Given the description of an element on the screen output the (x, y) to click on. 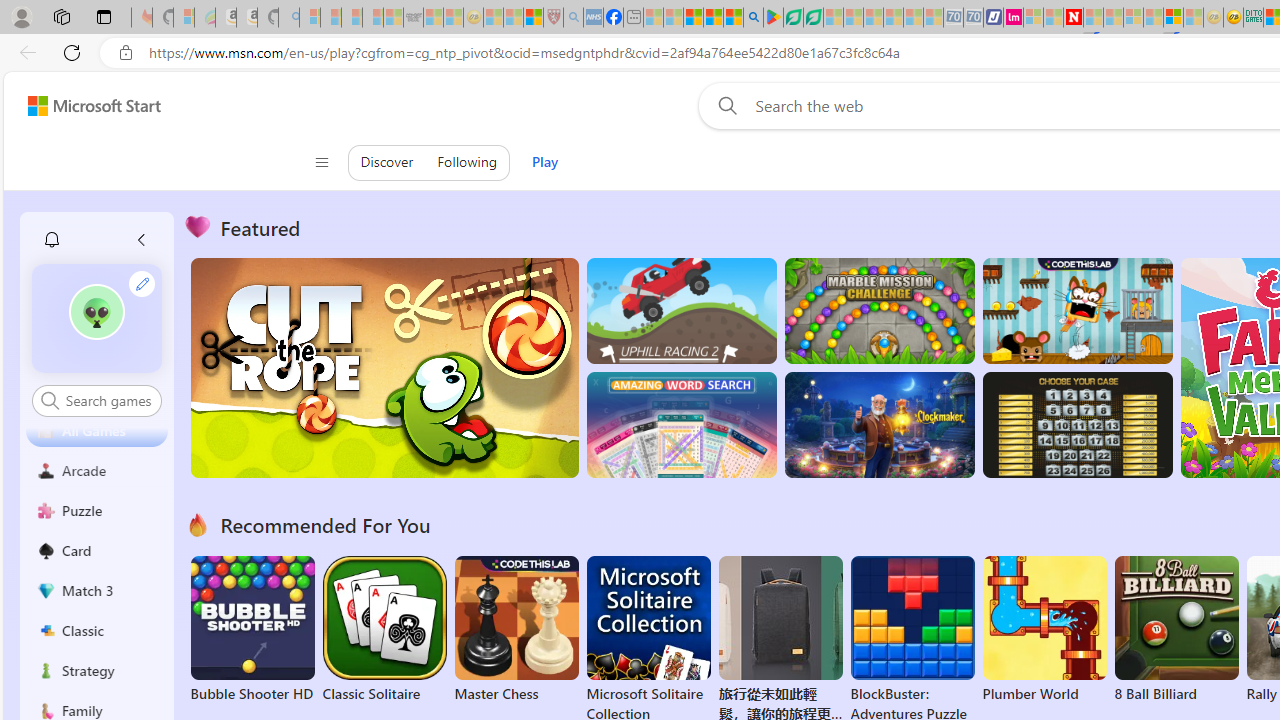
Class: control icon-only (320, 162)
""'s avatar (96, 312)
8 Ball Billiard (1176, 629)
Plumber World (1044, 629)
